Given the description of an element on the screen output the (x, y) to click on. 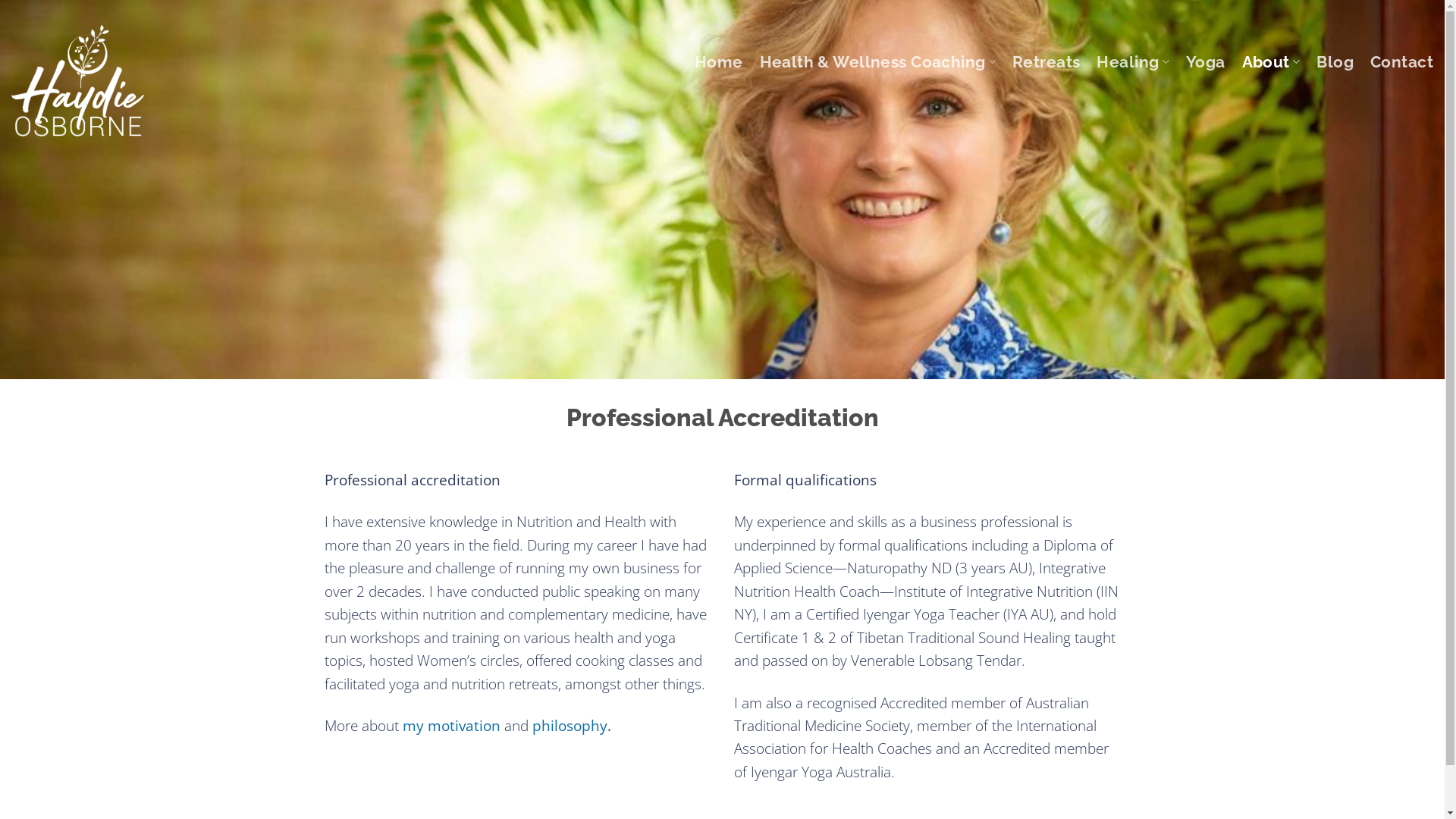
philosophy Element type: text (569, 725)
Blog Element type: text (1334, 61)
Healing Element type: text (1132, 61)
my motivation Element type: text (450, 725)
Contact Element type: text (1401, 61)
Home Element type: text (718, 61)
About Element type: text (1271, 61)
Retreats Element type: text (1045, 61)
Yoga Element type: text (1205, 61)
Health & Wellness Coaching Element type: text (877, 61)
